Given the description of an element on the screen output the (x, y) to click on. 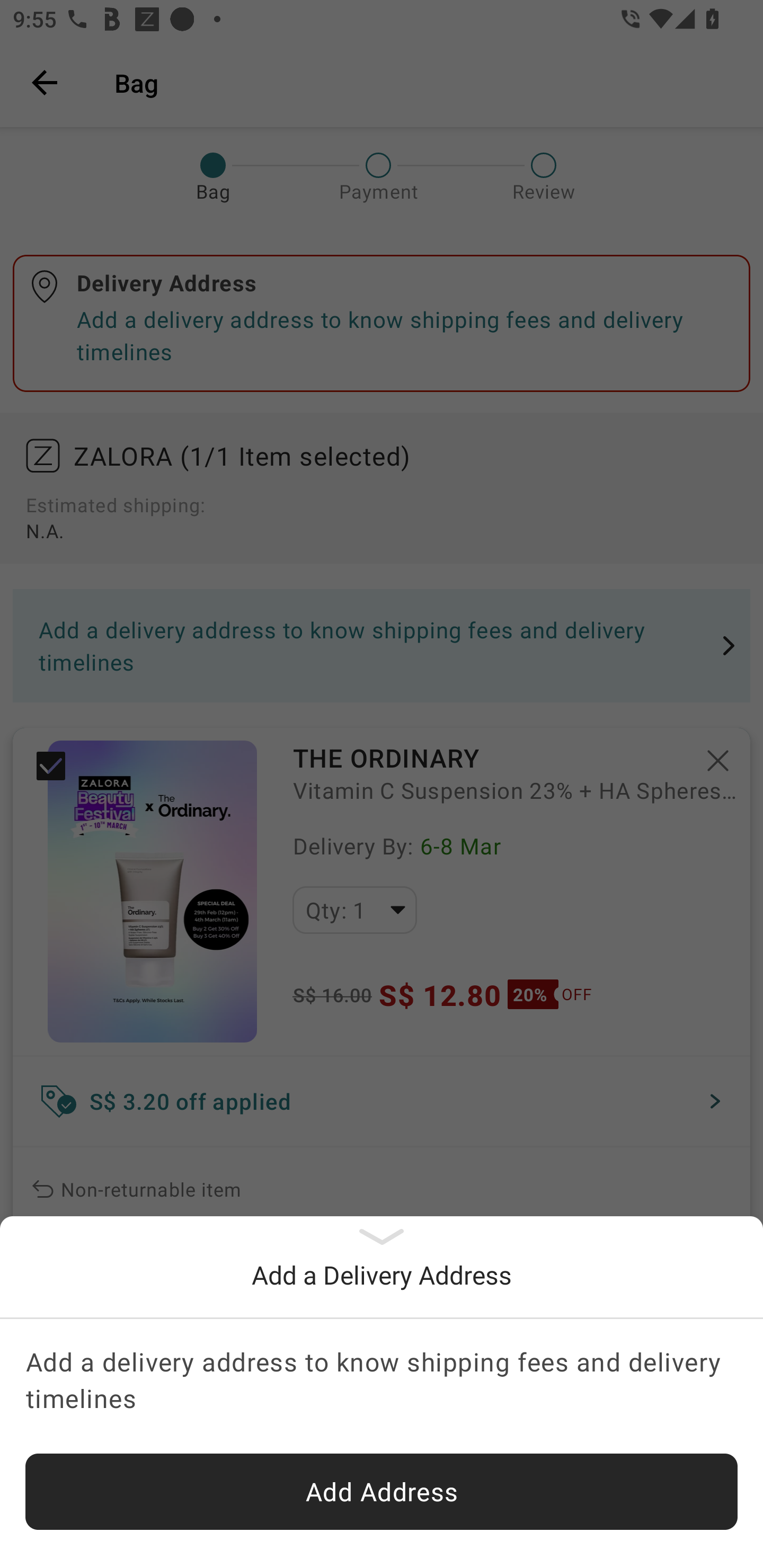
Add Address (381, 1491)
